Given the description of an element on the screen output the (x, y) to click on. 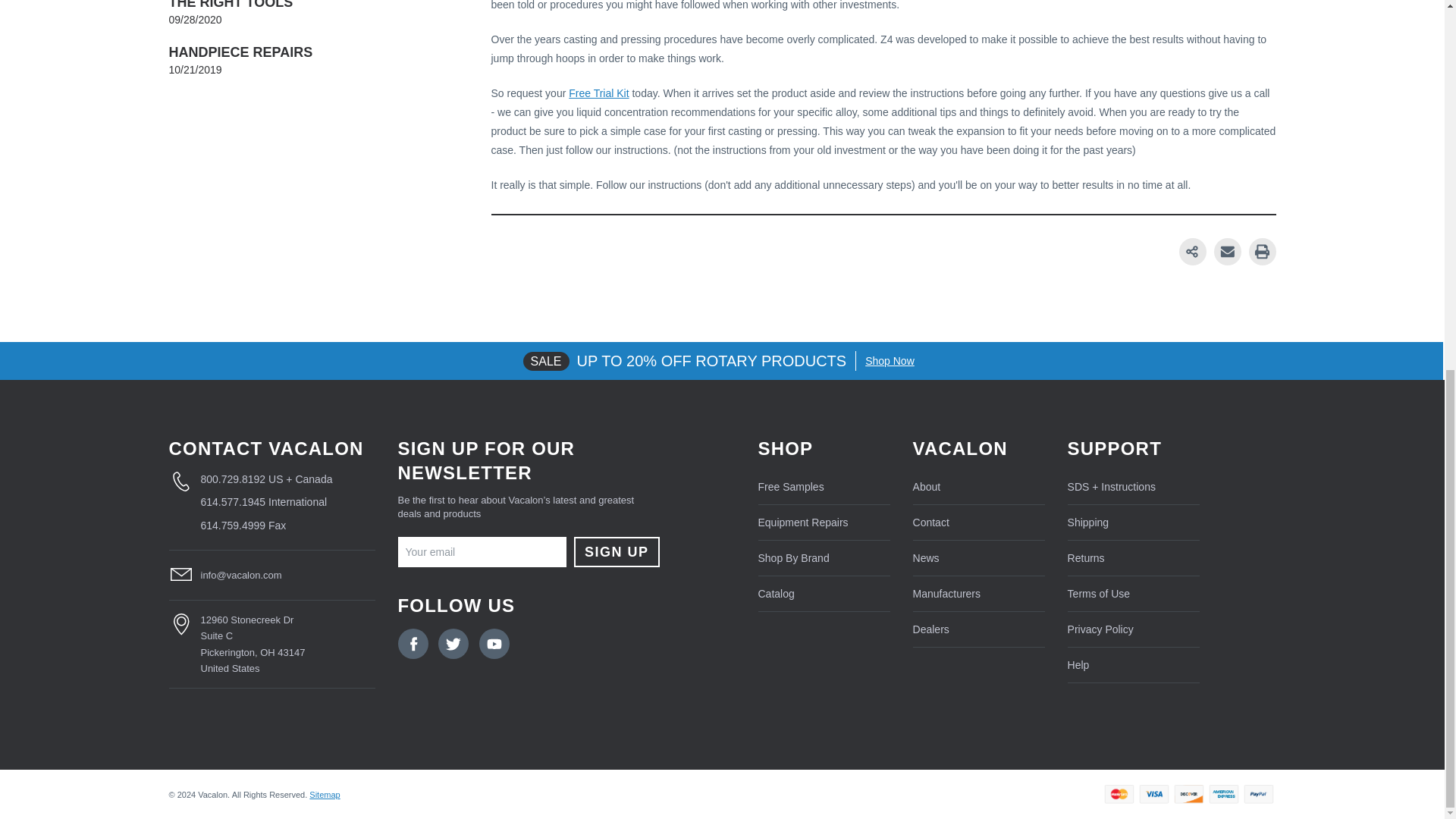
Email (1227, 251)
Sign up (616, 552)
Print (1261, 251)
